Given the description of an element on the screen output the (x, y) to click on. 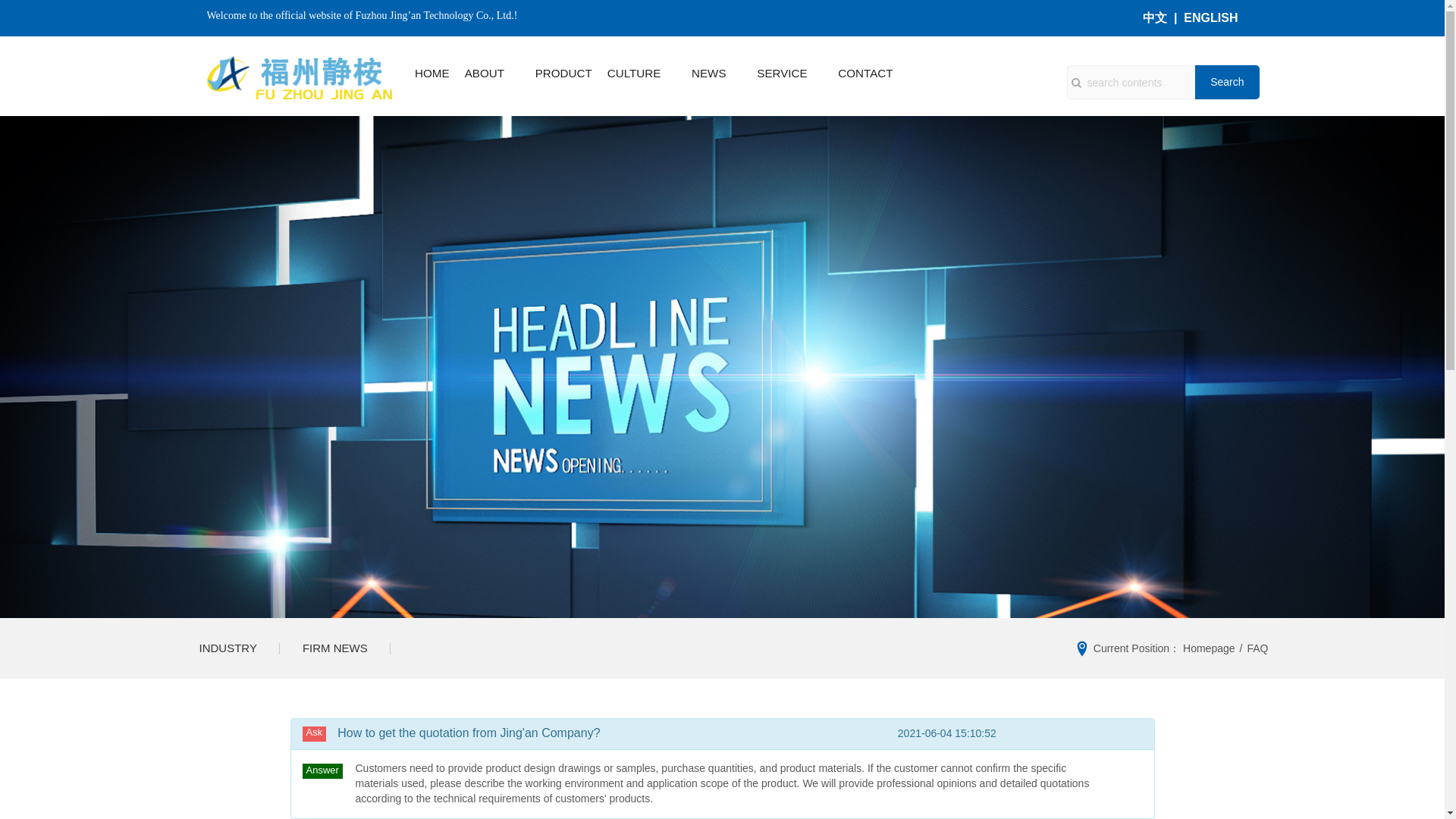
ENGLISH (1210, 17)
PRODUCT (563, 72)
NEWS (708, 72)
FIRM NEWS (334, 648)
Homepage (1208, 648)
ABOUT (483, 72)
FIRM NEWS (334, 648)
CONTACT (865, 72)
CULTURE (634, 72)
INDUSTRY (227, 648)
SERVICE (781, 72)
INDUSTRY (227, 648)
HOME (431, 72)
